Given the description of an element on the screen output the (x, y) to click on. 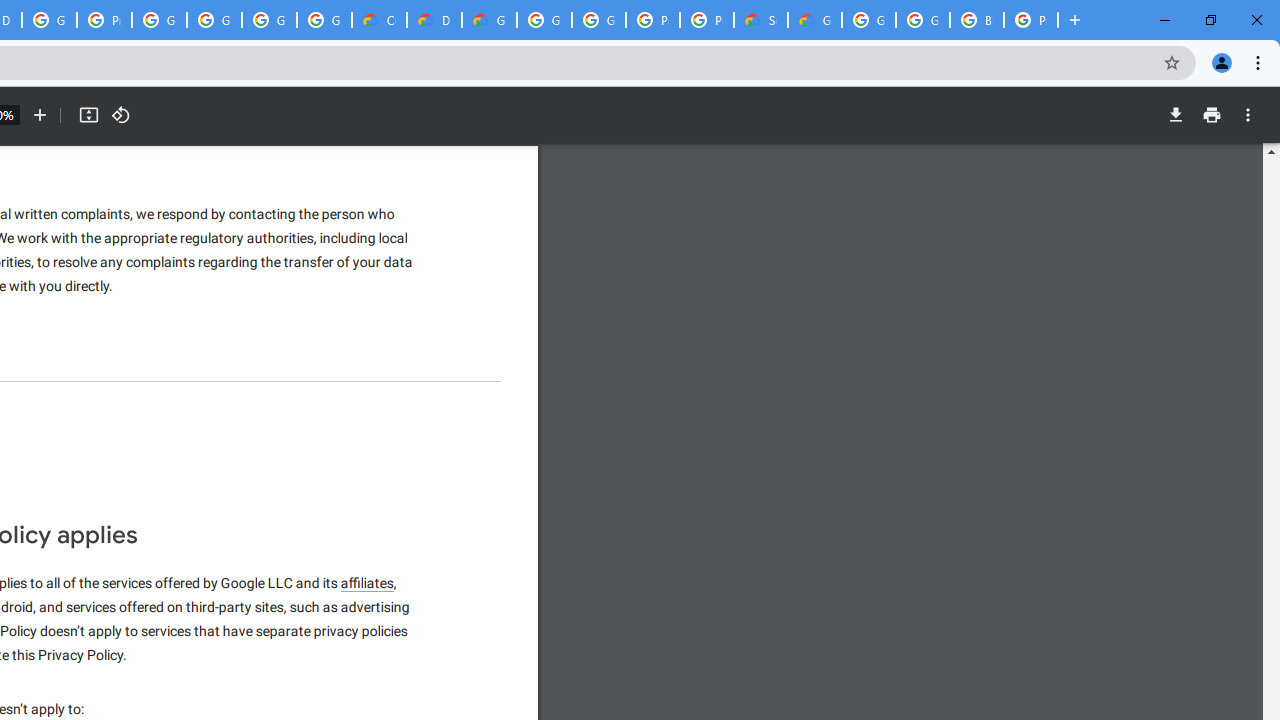
Google Cloud Service Health (815, 20)
Google Cloud Platform (922, 20)
Google Cloud Platform (598, 20)
Google Workspace - Specific Terms (268, 20)
Fit to page (87, 115)
Google Cloud Platform (544, 20)
Rotate counterclockwise (119, 115)
Zoom in (39, 115)
